Given the description of an element on the screen output the (x, y) to click on. 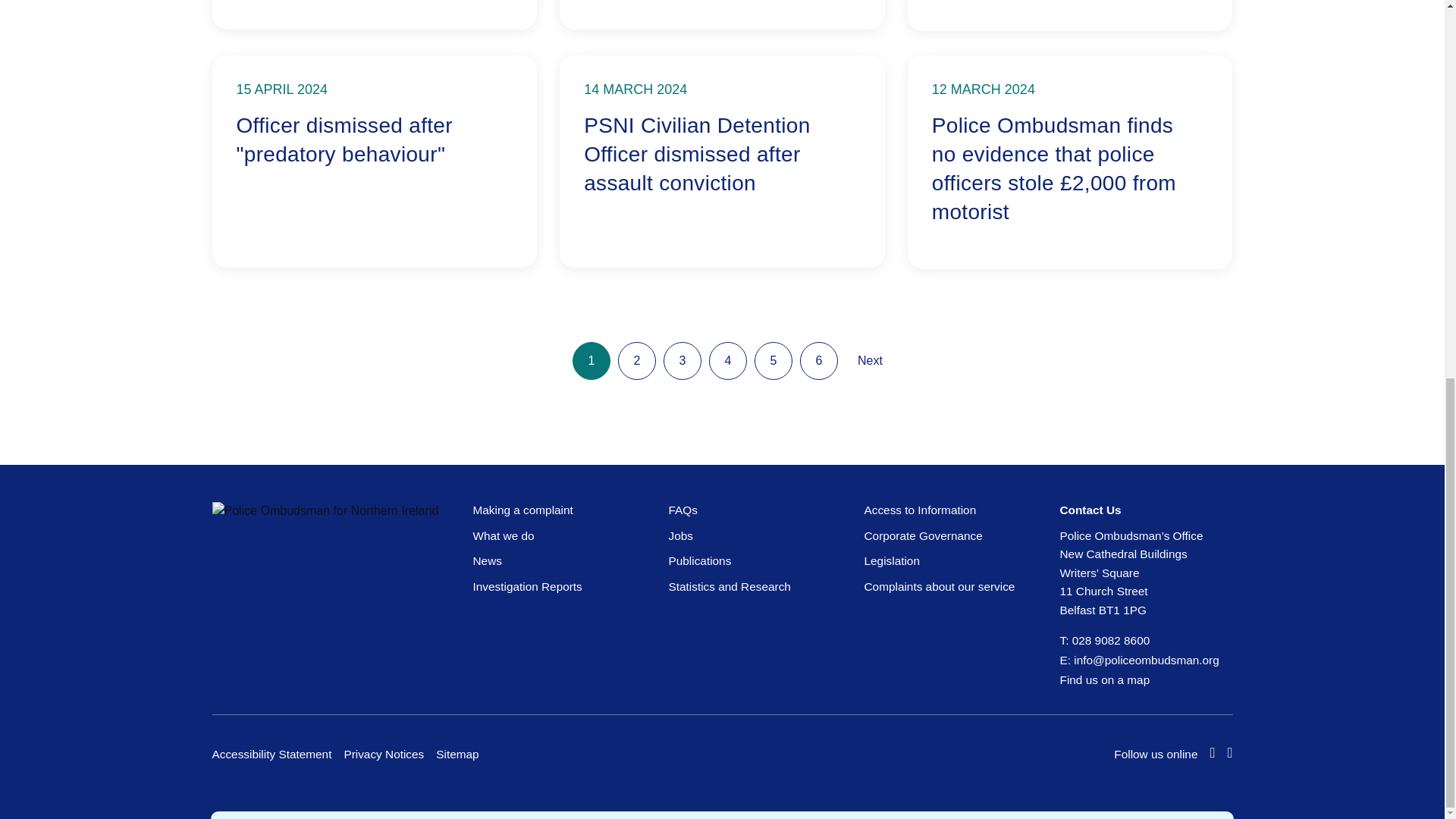
2 (636, 361)
6 (374, 161)
5 (591, 361)
Next (818, 361)
3 (773, 361)
